Given the description of an element on the screen output the (x, y) to click on. 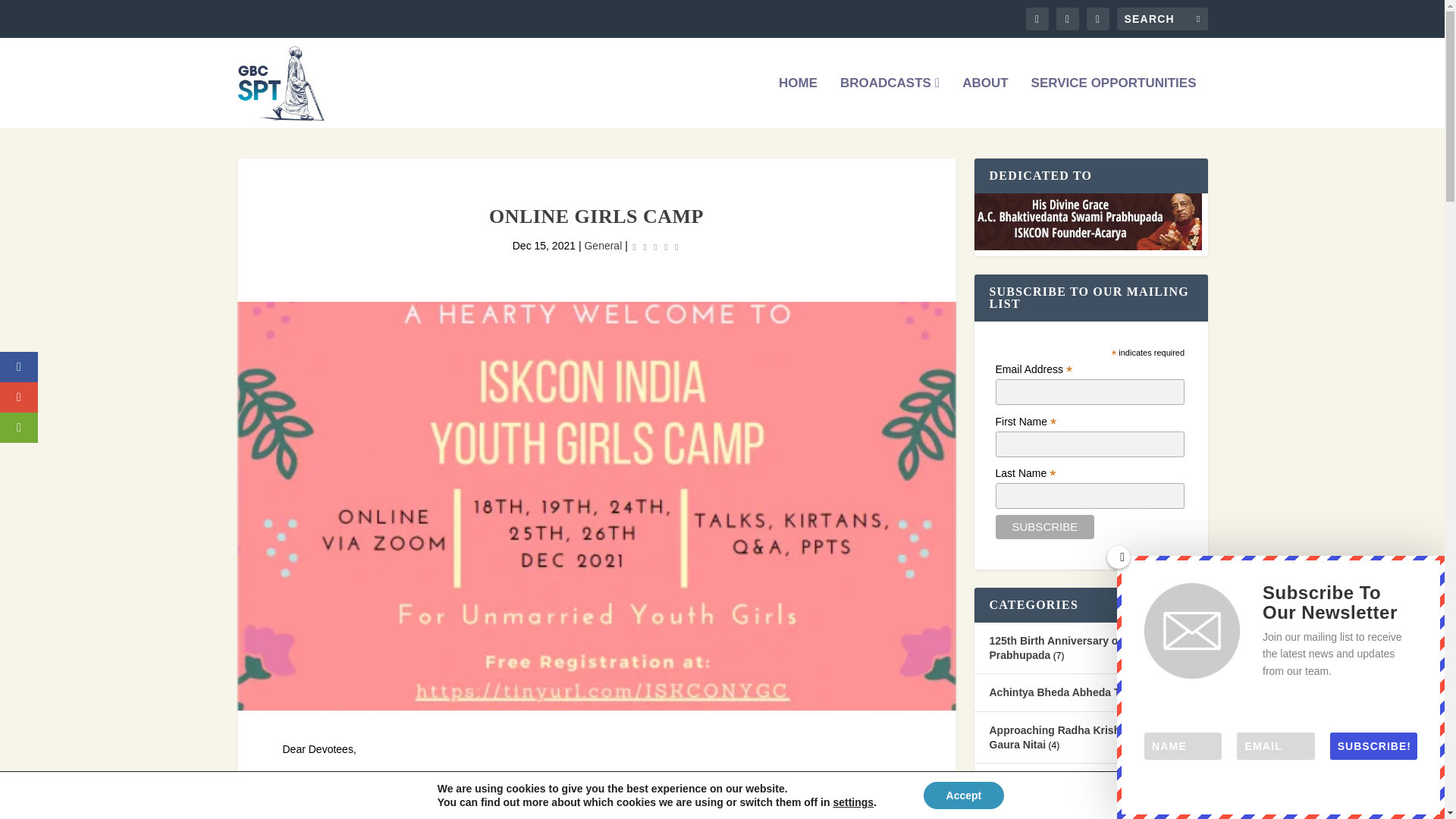
HOME (797, 101)
Subscribe (1044, 526)
SERVICE OPPORTUNITIES (1113, 101)
ABOUT (984, 101)
Rating: 1.00 (655, 246)
BROADCASTS (889, 101)
Search for: (1161, 18)
